Given the description of an element on the screen output the (x, y) to click on. 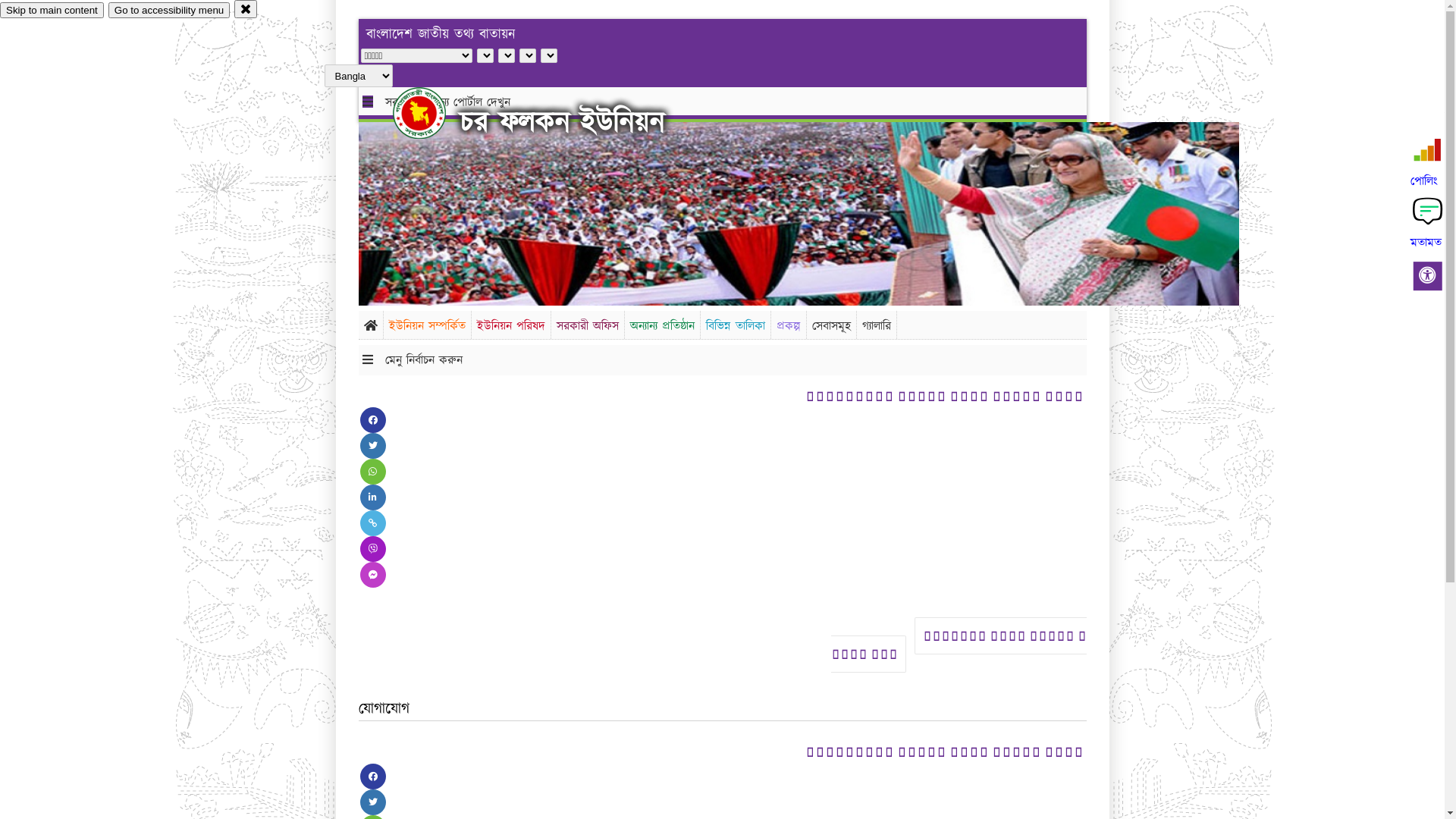
close Element type: hover (245, 9)

                
             Element type: hover (431, 112)
Skip to main content Element type: text (51, 10)
Go to accessibility menu Element type: text (168, 10)
